Given the description of an element on the screen output the (x, y) to click on. 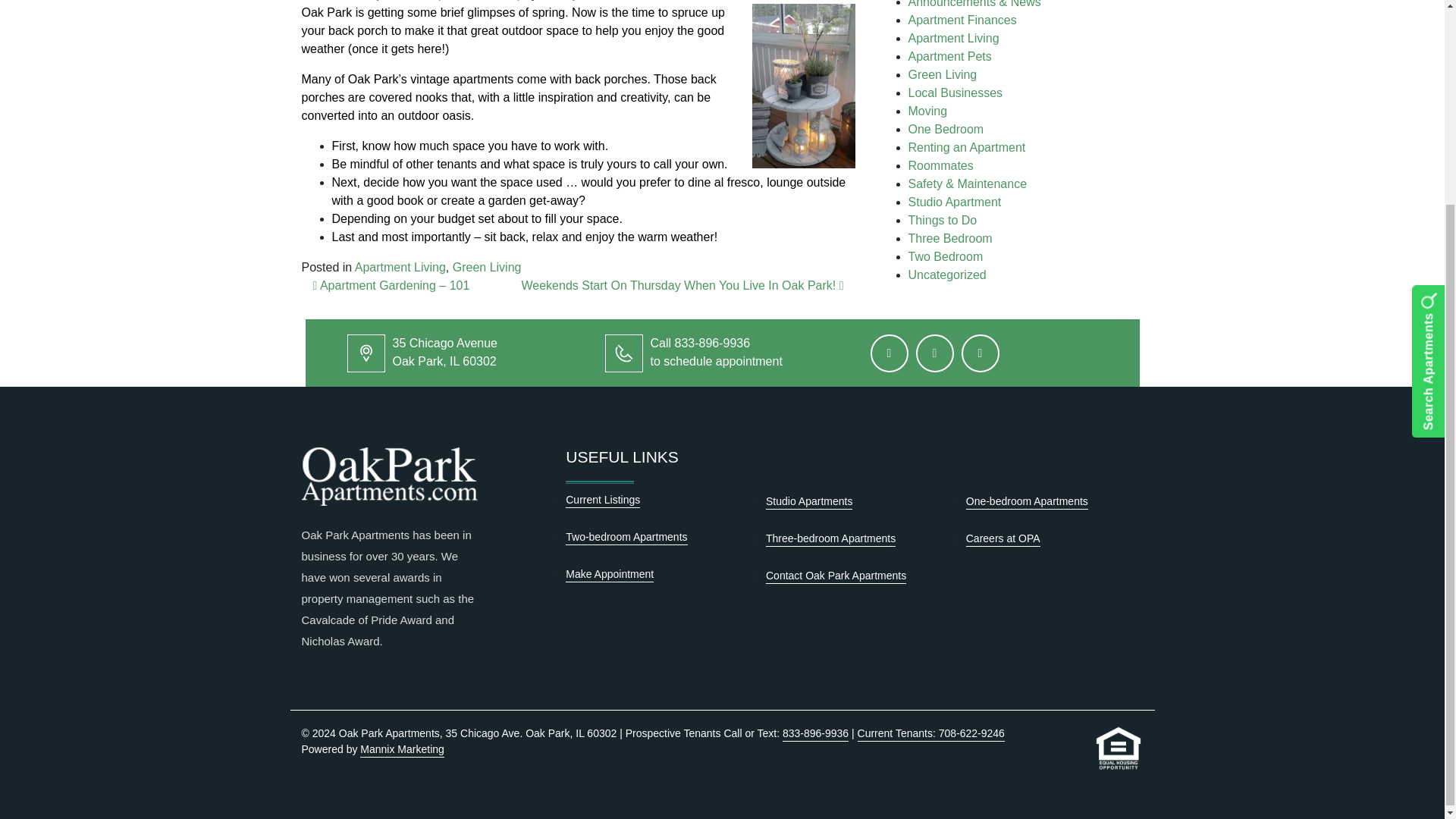
Green Living (486, 267)
Weekends Start On Thursday When You Live In Oak Park!  (682, 285)
Apartment Living (400, 267)
